Given the description of an element on the screen output the (x, y) to click on. 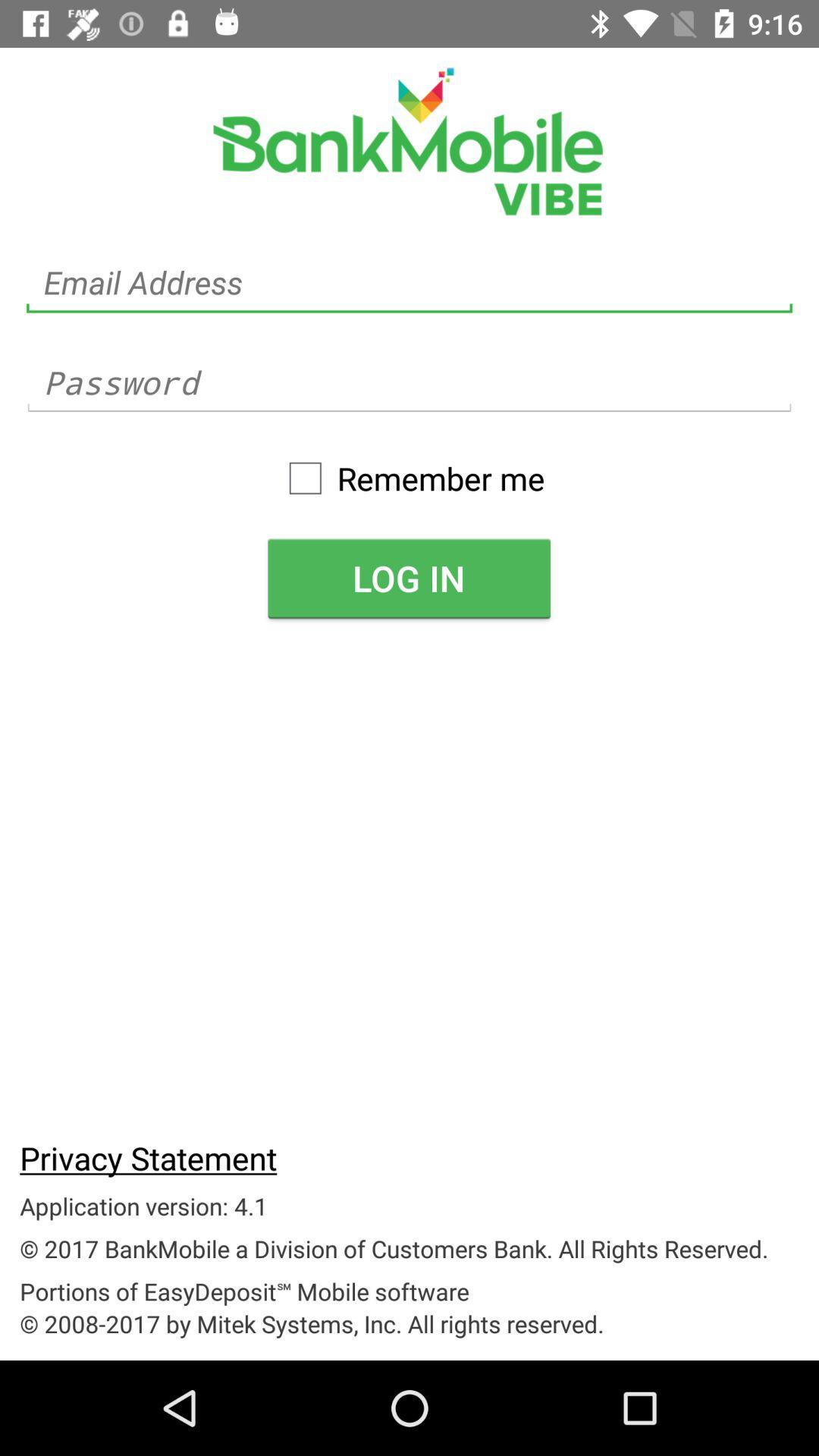
launch the item above application version: item (147, 1157)
